Given the description of an element on the screen output the (x, y) to click on. 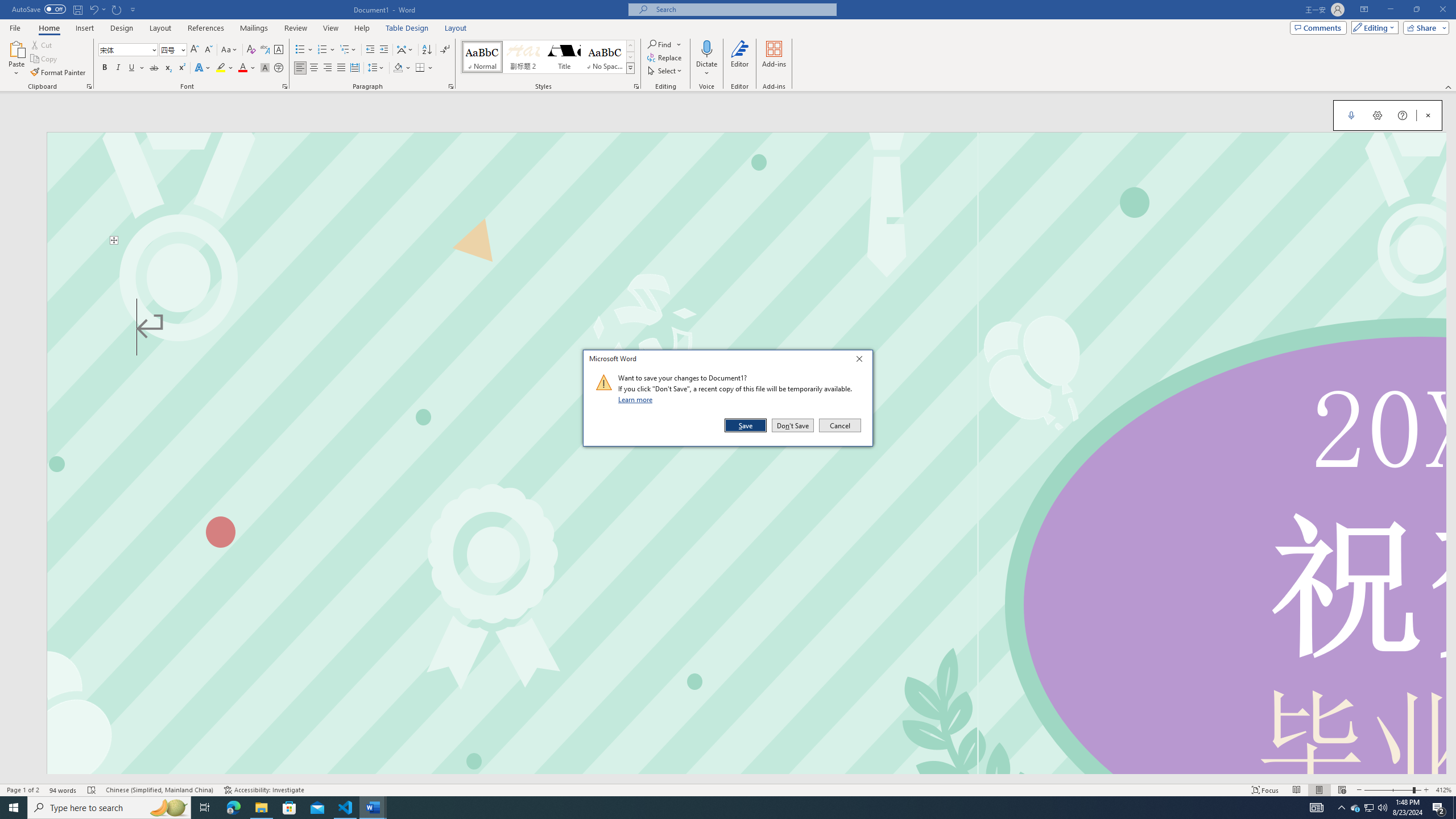
Type here to search (108, 807)
Task View (204, 807)
